Given the description of an element on the screen output the (x, y) to click on. 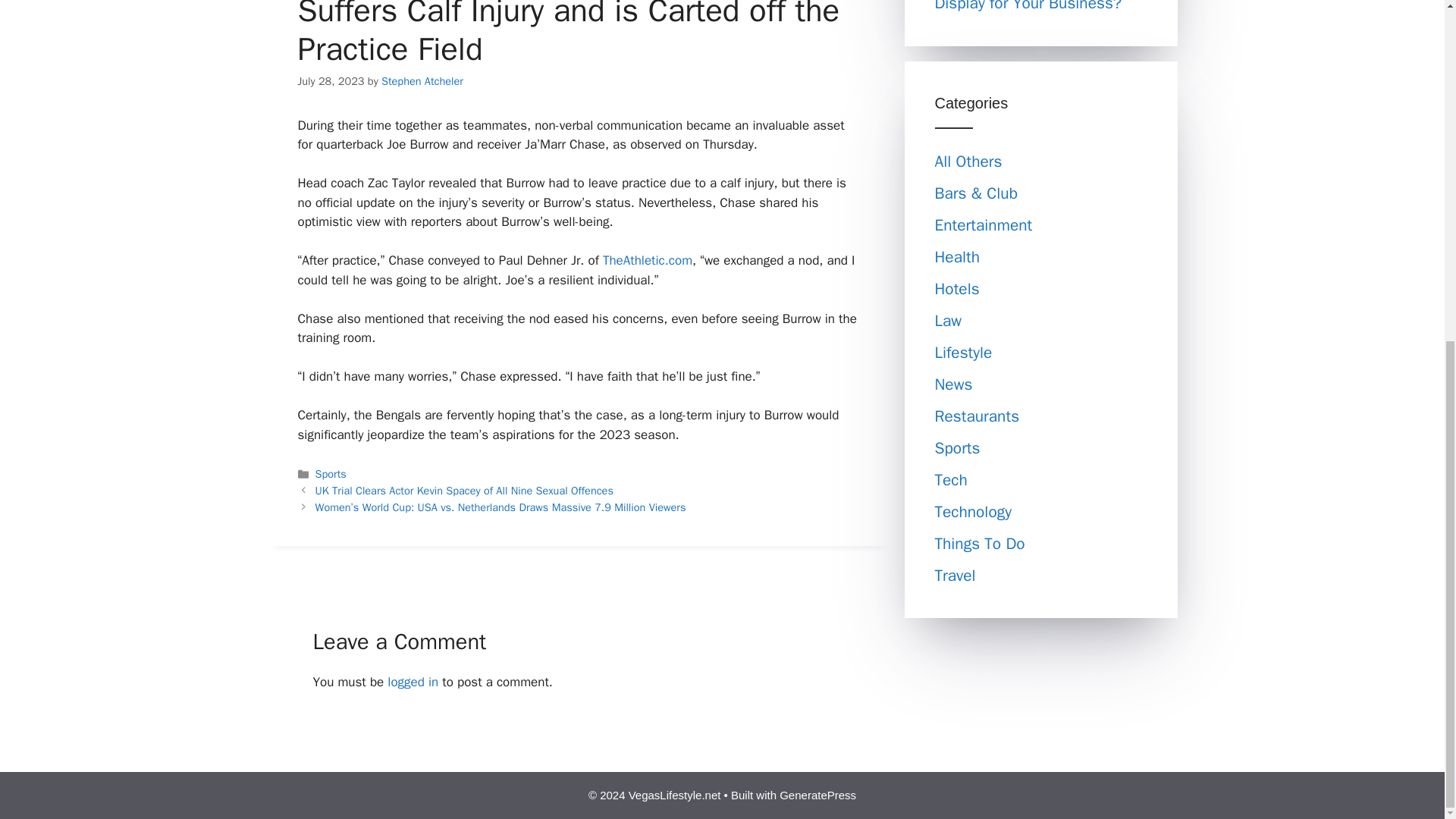
Health (956, 256)
All Others (967, 161)
Sports (956, 447)
GeneratePress (817, 794)
Stephen Atcheler (422, 80)
Entertainment (983, 225)
Technology (972, 511)
Tech (950, 479)
Lifestyle (962, 352)
